Given the description of an element on the screen output the (x, y) to click on. 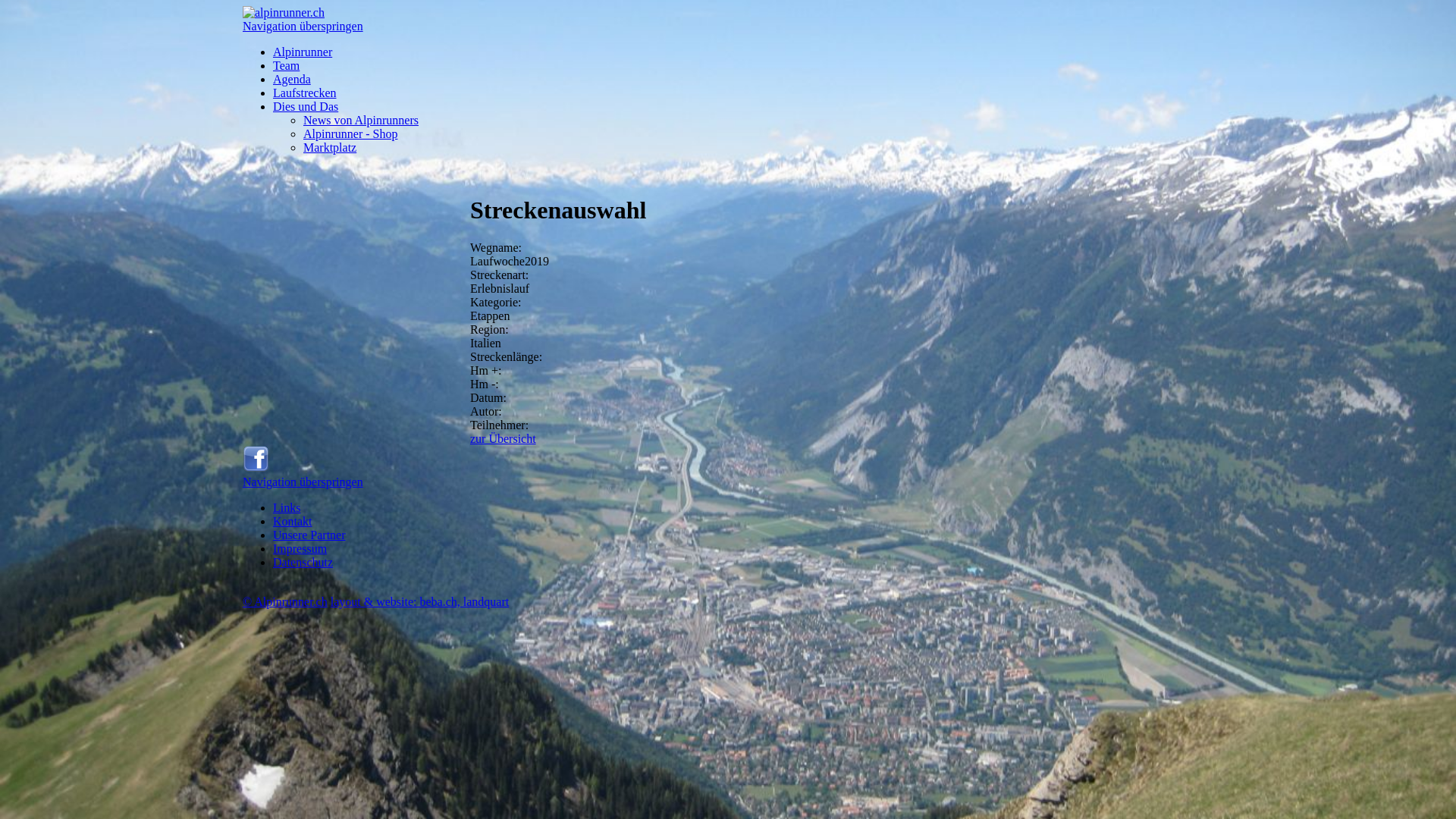
Besuche Alpinrunner auf Facebook Element type: hover (255, 467)
Unsere Partner Element type: text (309, 534)
News von Alpinrunners Element type: text (360, 119)
 startseite alpinrunner.ch Element type: hover (283, 12)
Dies und Das Element type: text (305, 106)
Agenda Element type: text (291, 78)
  Element type: text (243, 587)
Team Element type: text (286, 65)
Impressum Element type: text (299, 548)
Marktplatz Element type: text (329, 147)
layout & website: beba.ch, landquart Element type: text (419, 601)
  Element type: text (243, 172)
Links Element type: text (286, 507)
Alpinrunner Element type: text (302, 51)
Alpinrunner - Shop Element type: text (350, 133)
Datenschutz Element type: text (302, 561)
Kontakt Element type: text (292, 520)
Laufstrecken Element type: text (304, 92)
